Given the description of an element on the screen output the (x, y) to click on. 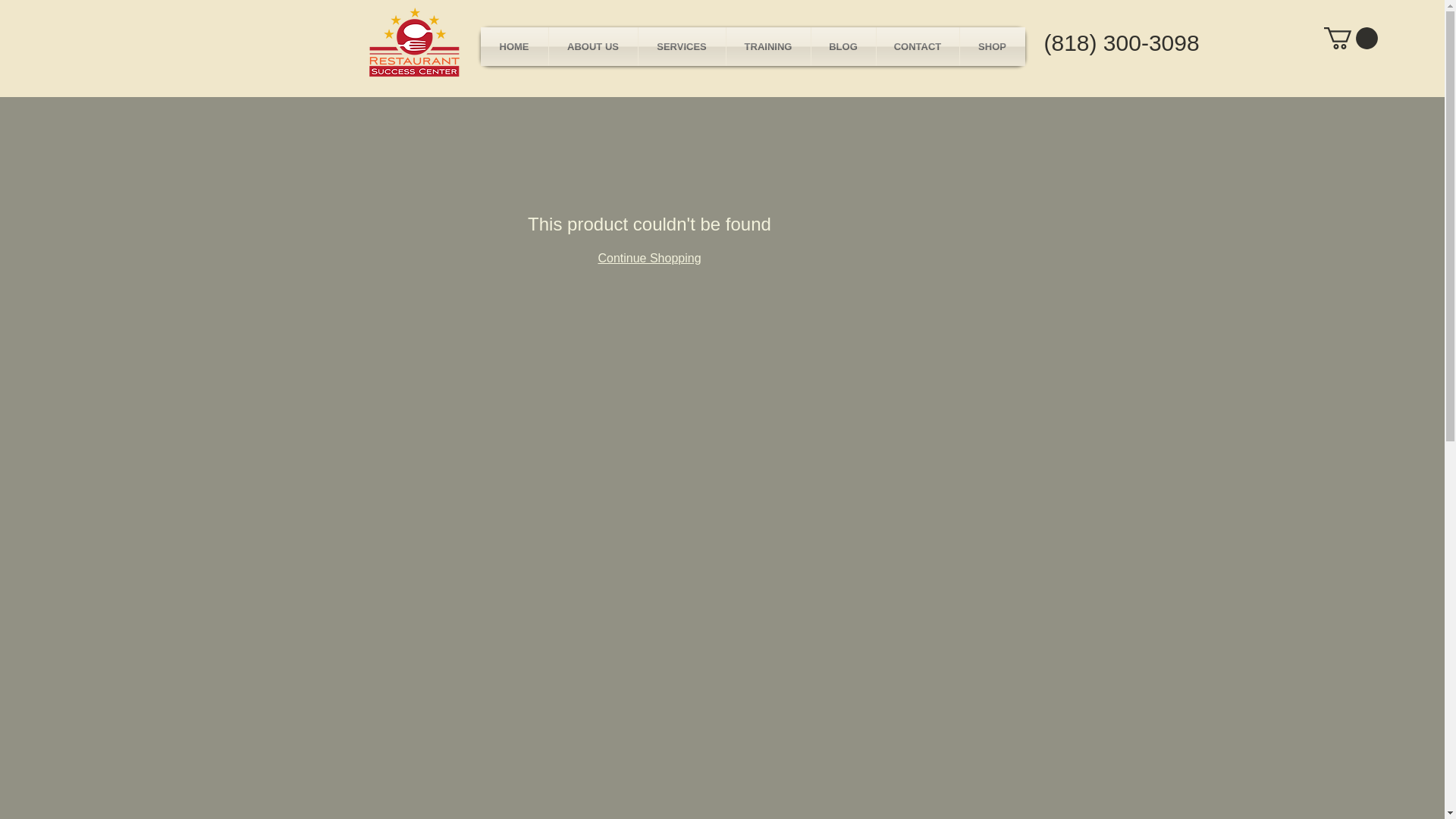
Continue Shopping (648, 257)
ABOUT US (592, 46)
CONTACT (917, 46)
SERVICES (682, 46)
TRAINING (768, 46)
BLOG (843, 46)
SHOP (992, 46)
HOME (514, 46)
